Given the description of an element on the screen output the (x, y) to click on. 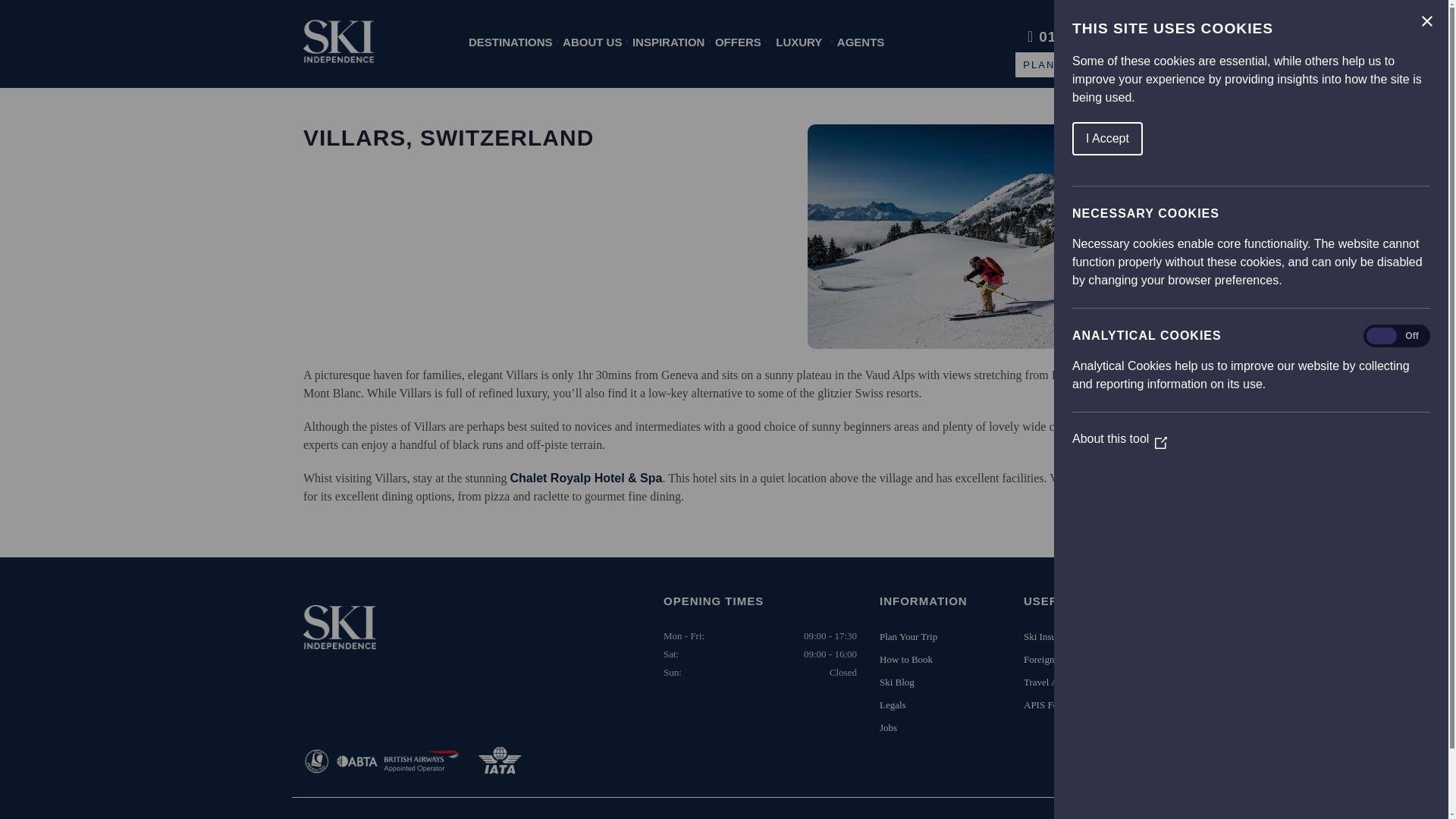
I Accept (1377, 138)
DESTINATIONS (510, 41)
